Given the description of an element on the screen output the (x, y) to click on. 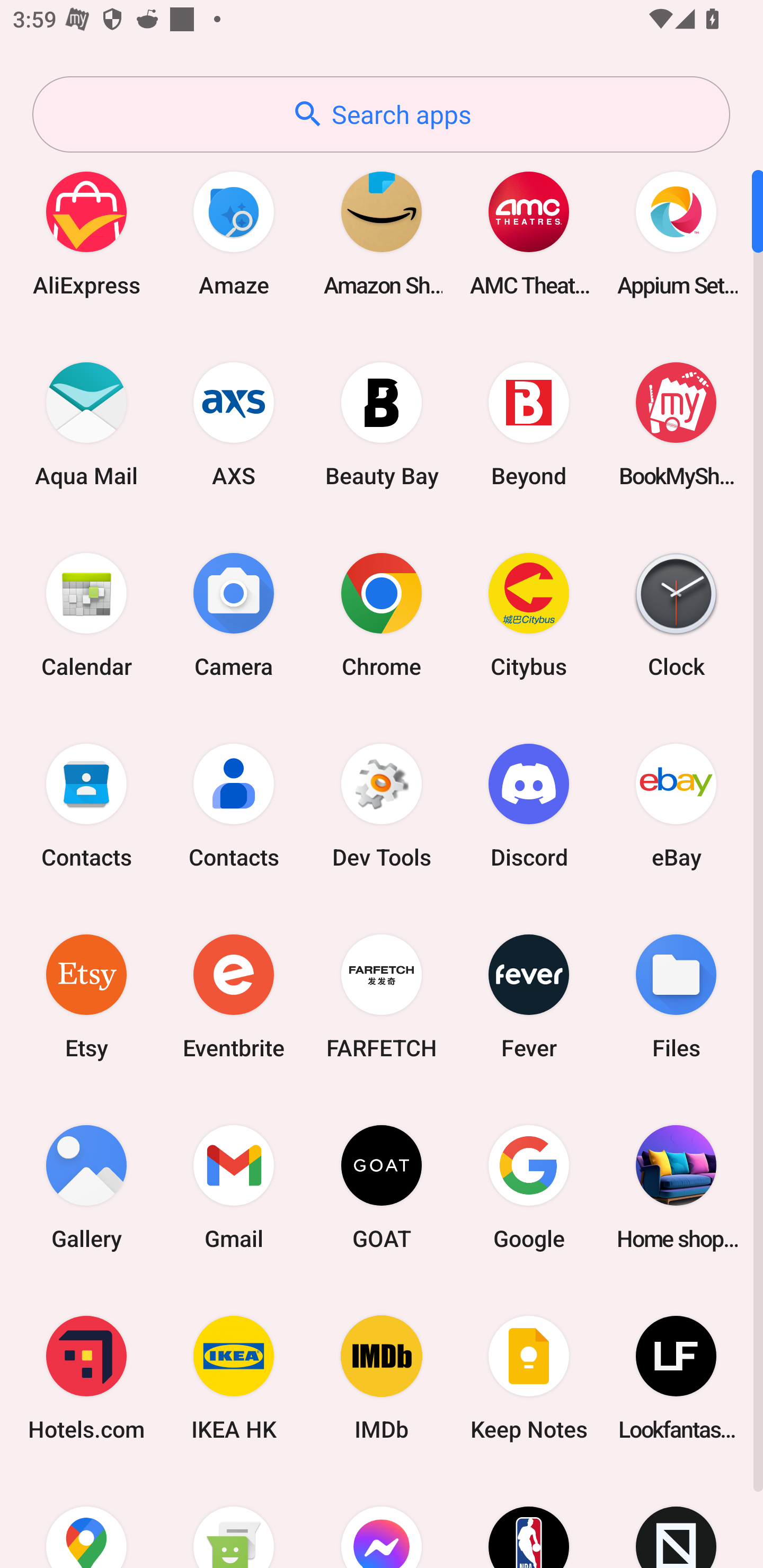
  Search apps (381, 114)
AliExpress (86, 233)
Amaze (233, 233)
Amazon Shopping (381, 233)
AMC Theatres (528, 233)
Appium Settings (676, 233)
Aqua Mail (86, 424)
AXS (233, 424)
Beauty Bay (381, 424)
Beyond (528, 424)
BookMyShow (676, 424)
Calendar (86, 614)
Camera (233, 614)
Chrome (381, 614)
Citybus (528, 614)
Clock (676, 614)
Contacts (86, 805)
Contacts (233, 805)
Dev Tools (381, 805)
Discord (528, 805)
eBay (676, 805)
Etsy (86, 996)
Eventbrite (233, 996)
FARFETCH (381, 996)
Fever (528, 996)
Files (676, 996)
Gallery (86, 1186)
Gmail (233, 1186)
GOAT (381, 1186)
Google (528, 1186)
Home shopping (676, 1186)
Hotels.com (86, 1377)
IKEA HK (233, 1377)
IMDb (381, 1377)
Keep Notes (528, 1377)
Lookfantastic (676, 1377)
Maps (86, 1520)
Messaging (233, 1520)
Messenger (381, 1520)
NBA (528, 1520)
Novelship (676, 1520)
